Given the description of an element on the screen output the (x, y) to click on. 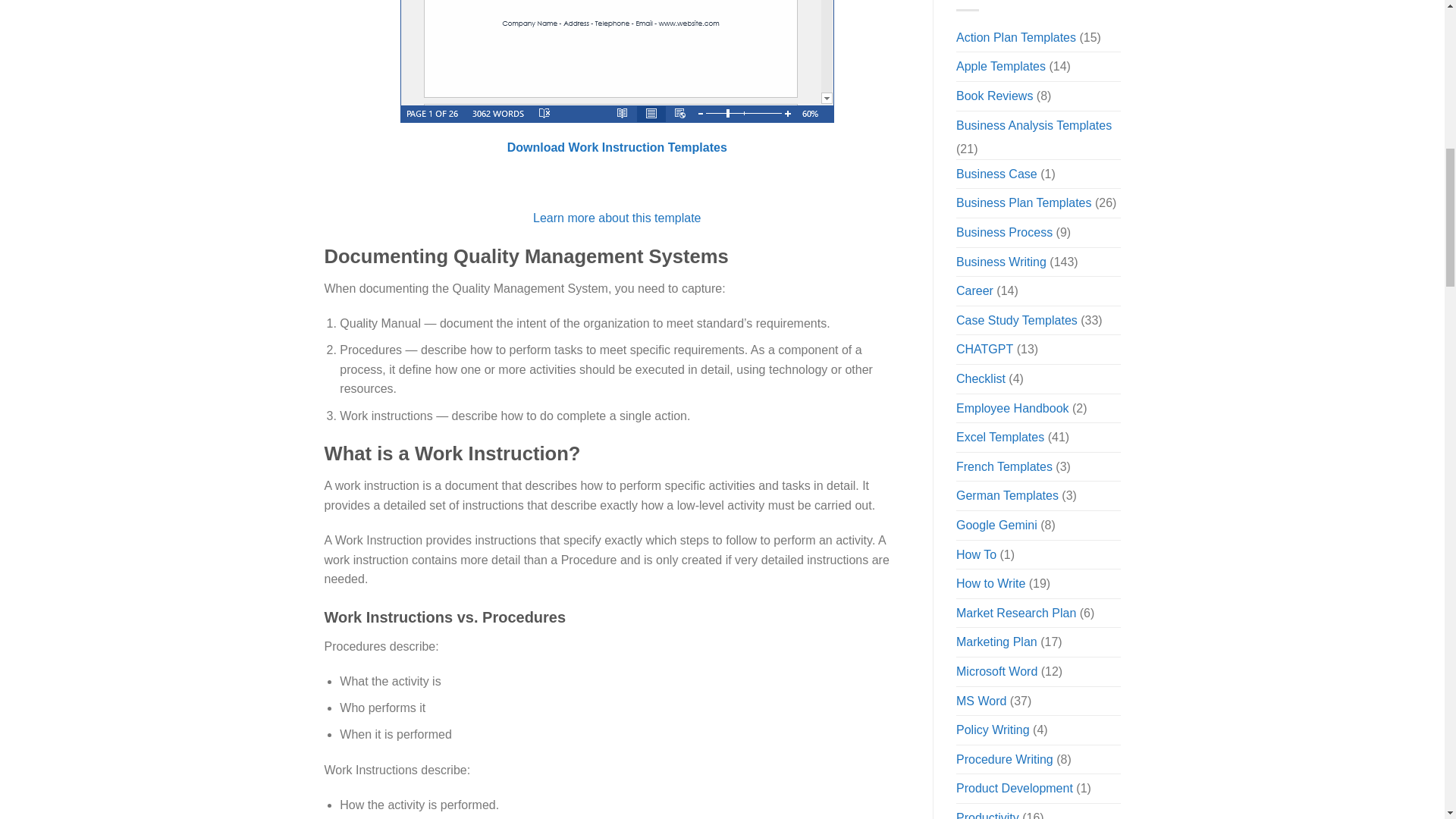
Download Work Instruction Templates (616, 146)
Learn more about this template (616, 217)
